Given the description of an element on the screen output the (x, y) to click on. 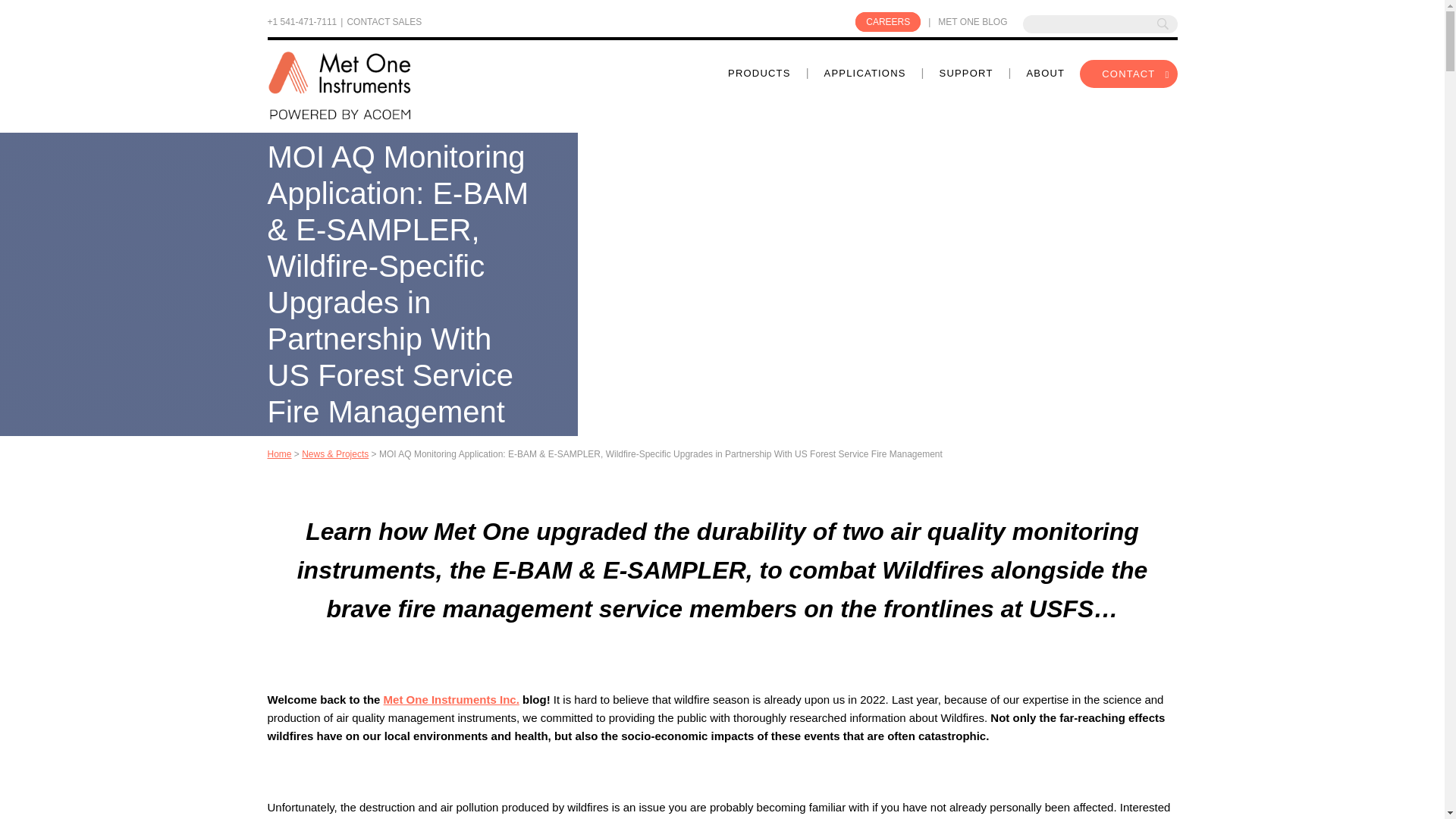
SUPPORT (965, 73)
APPLICATIONS (864, 73)
PRODUCTS (759, 73)
CONTACT SALES (384, 24)
MET ONE BLOG (972, 21)
CAREERS (888, 21)
